Given the description of an element on the screen output the (x, y) to click on. 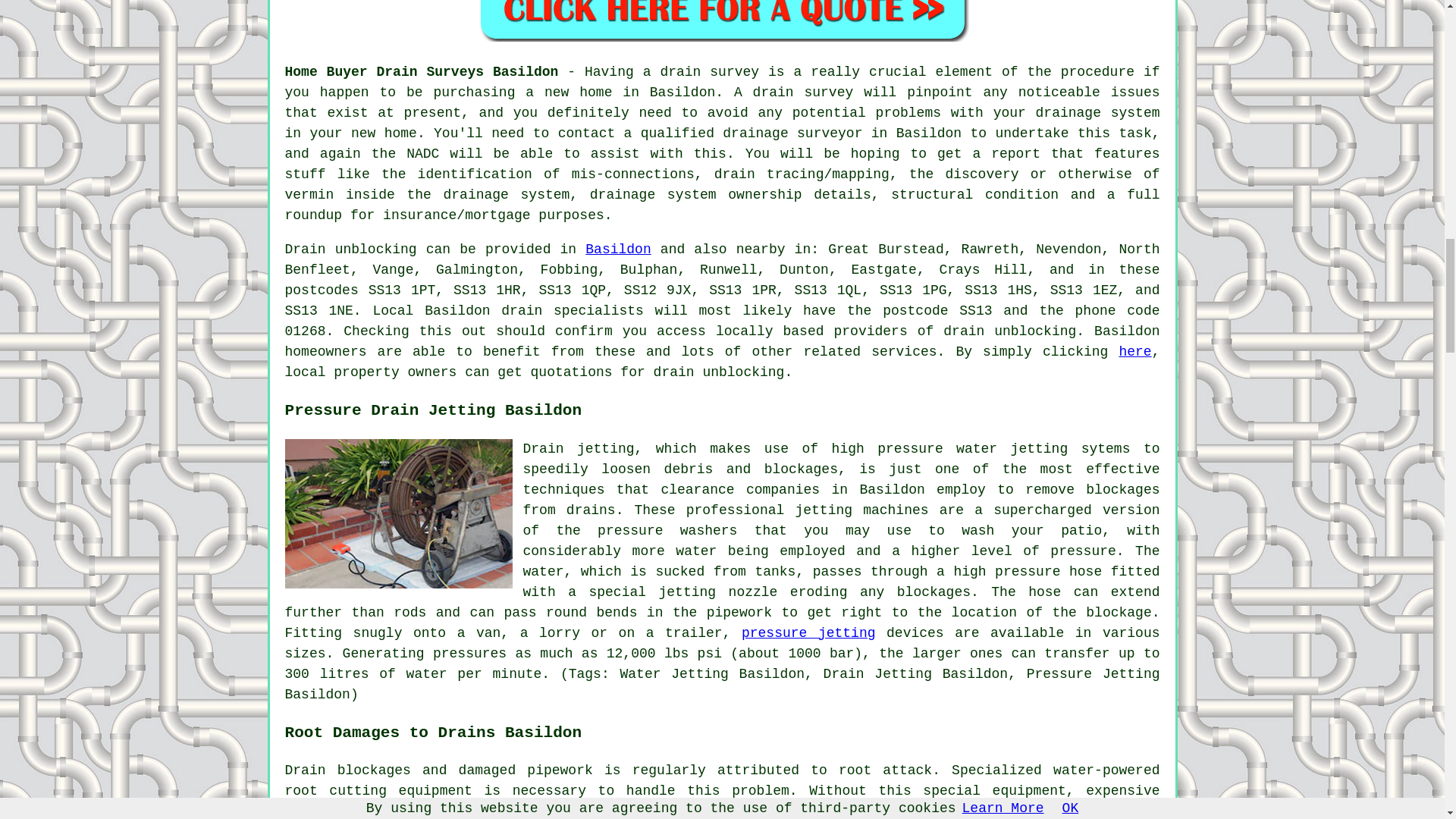
Drain Jetting Basildon Essex (398, 513)
